Given the description of an element on the screen output the (x, y) to click on. 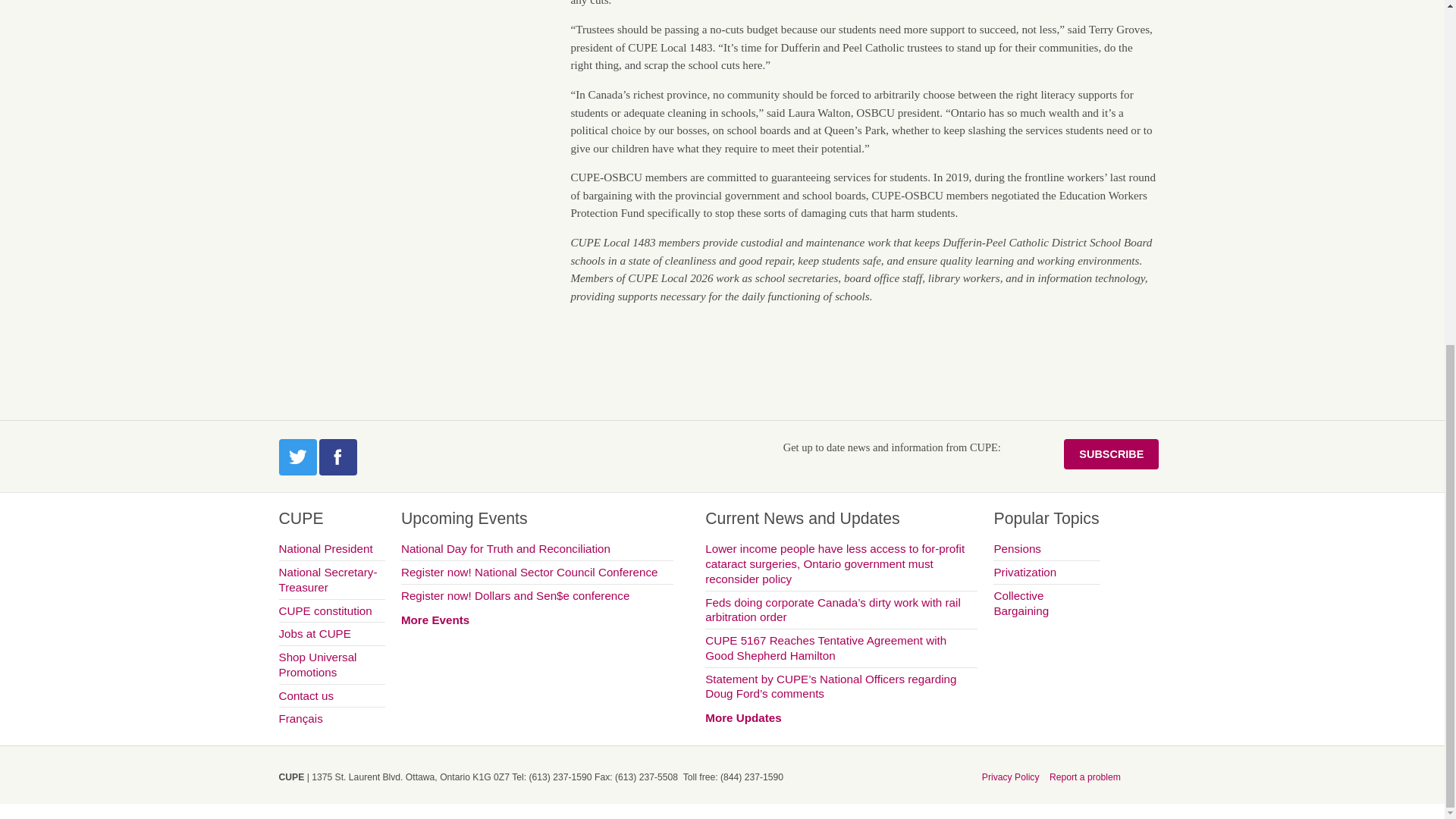
Visit our facebook page. (337, 456)
National President (332, 551)
Facebook (337, 456)
Visit our twitter page. (298, 456)
SUBSCRIBE (1111, 453)
Twitter (298, 456)
